Given the description of an element on the screen output the (x, y) to click on. 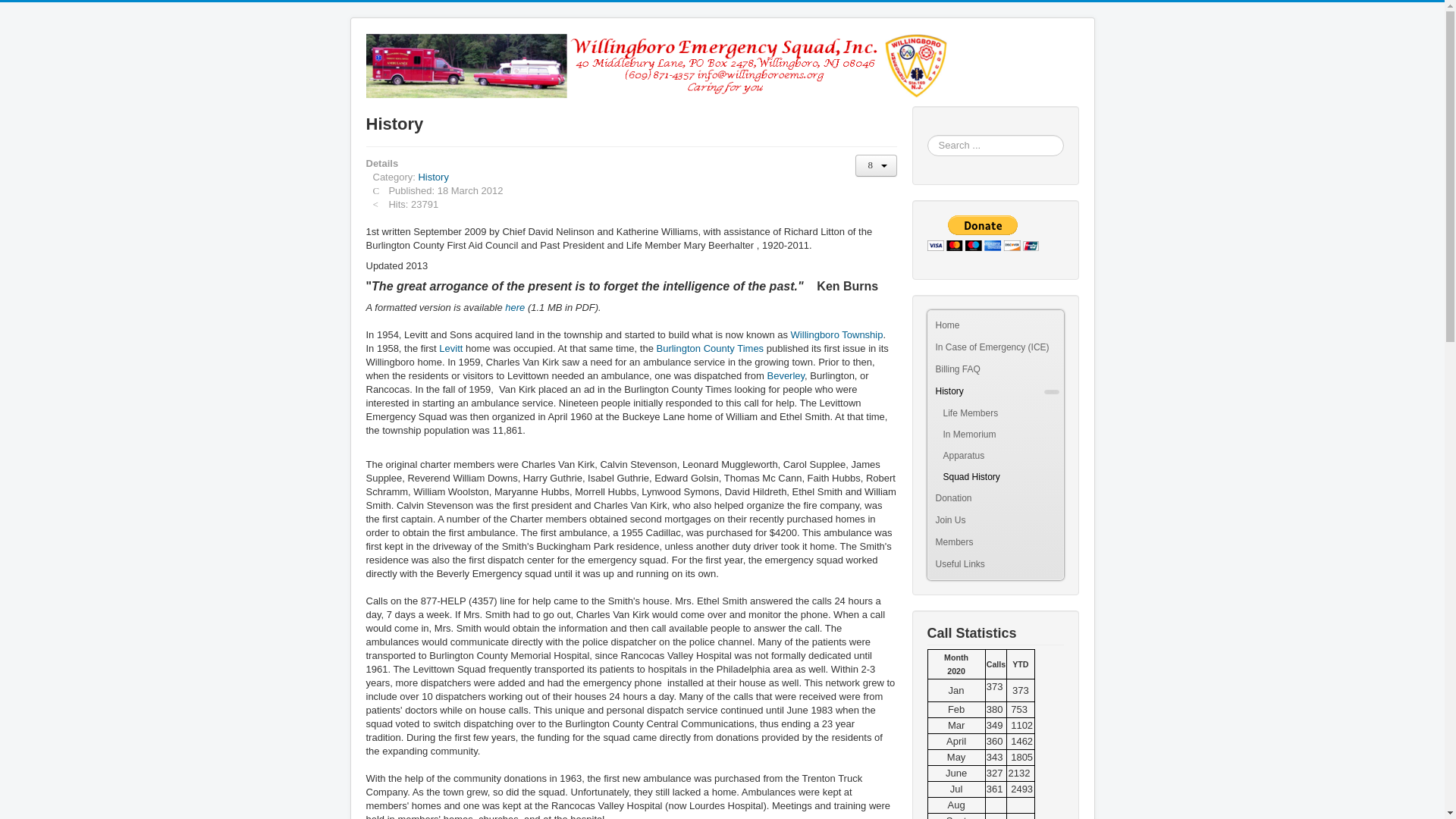
History (987, 391)
History (432, 176)
Willingboro Township (836, 334)
Home (994, 325)
Members (987, 542)
Life Members (994, 413)
here (514, 307)
In Memorium (994, 434)
Billing FAQ (994, 369)
Squad History (994, 476)
Useful Links (994, 564)
Burlington County Times (710, 348)
Beverley (786, 375)
Apparatus (994, 455)
Donation (987, 498)
